Given the description of an element on the screen output the (x, y) to click on. 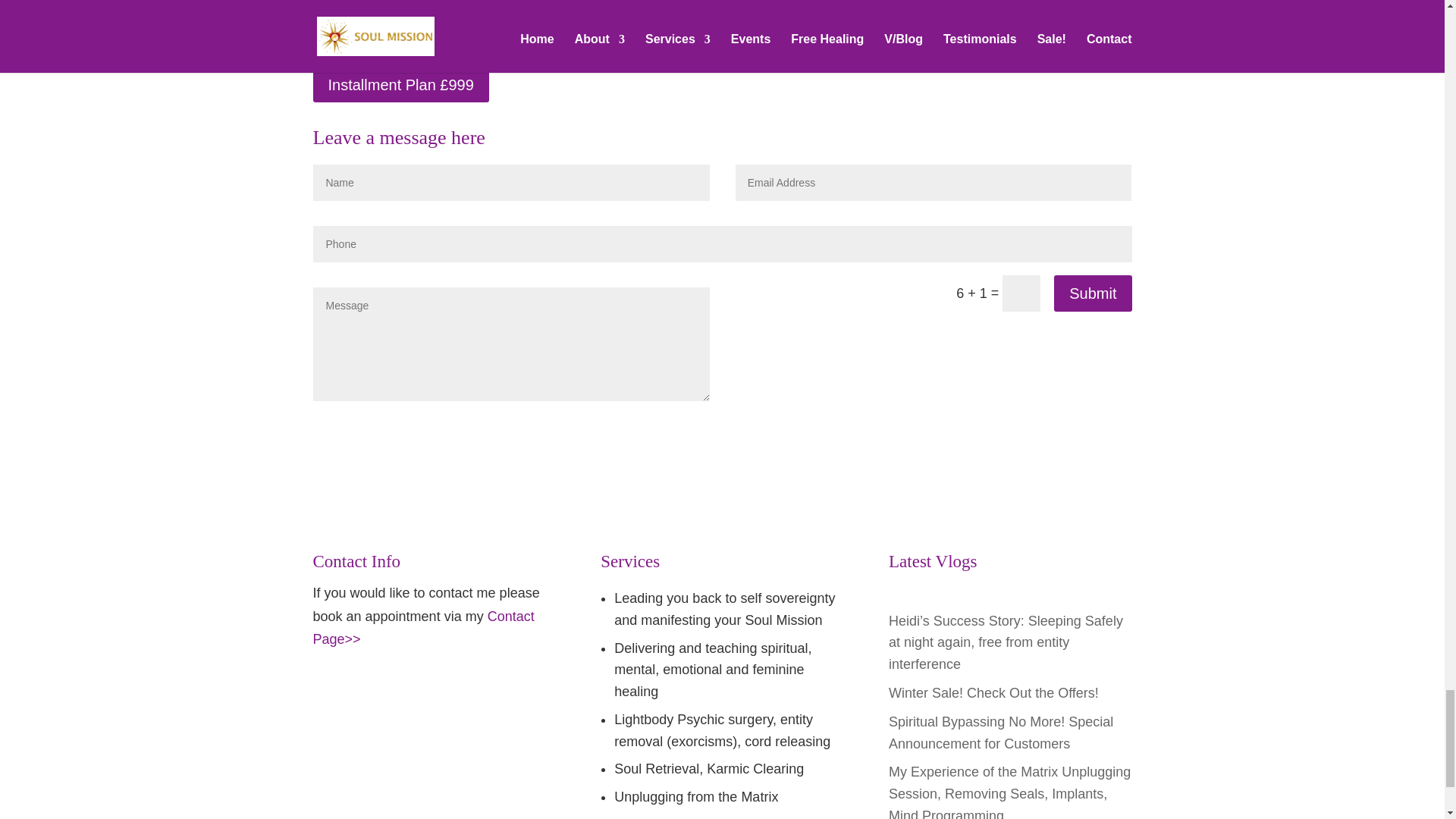
Soul Retrieval, Karmic Clearing (708, 768)
Winter Sale! Check Out the Offers! (993, 693)
Follow on Facebook (324, 691)
Submit (1092, 293)
Unplugging from the Matrix (695, 796)
Follow on Instagram (384, 691)
Follow on Youtube (354, 691)
